Given the description of an element on the screen output the (x, y) to click on. 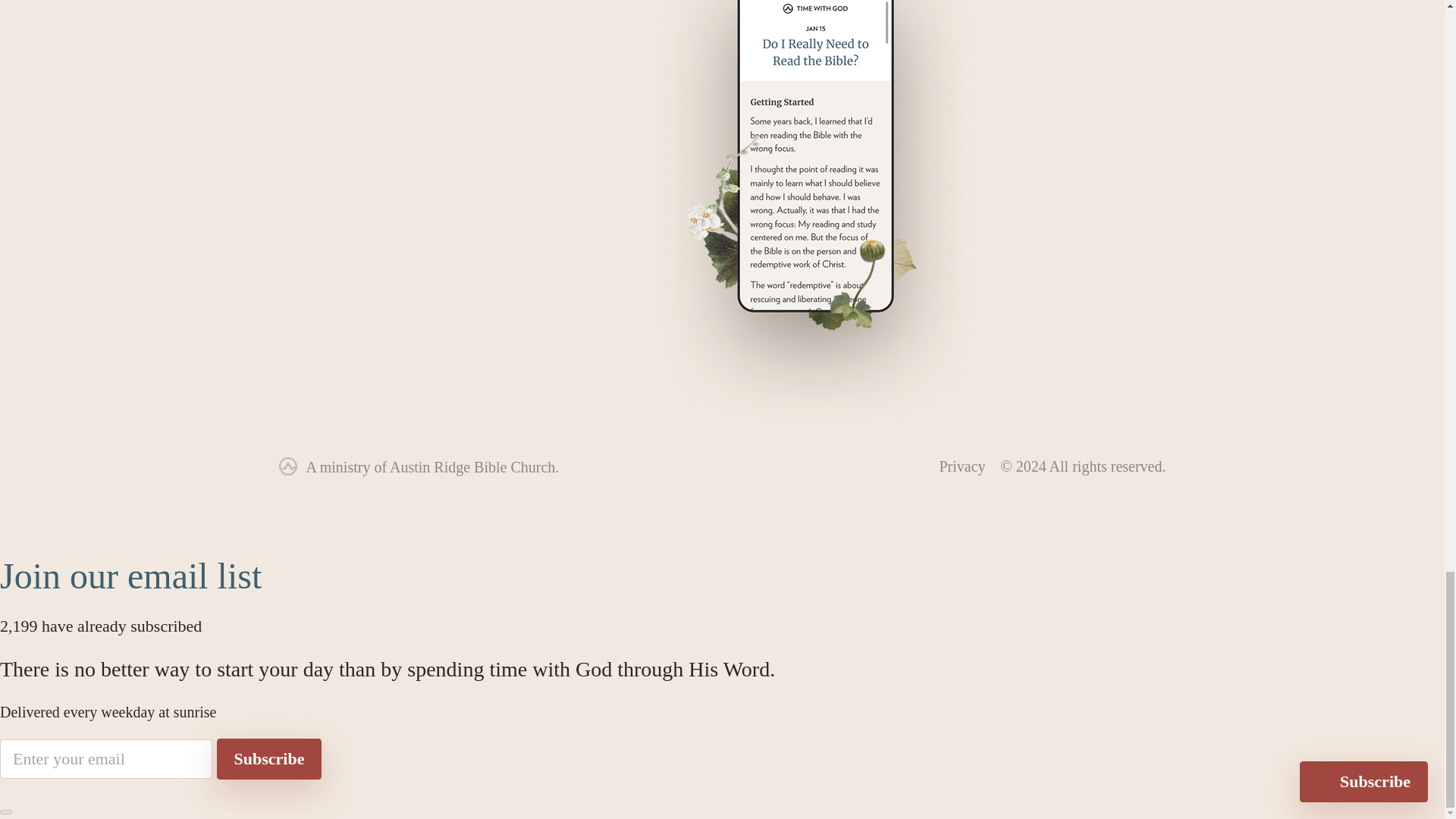
Subscribe (268, 758)
Privacy (962, 466)
A ministry of Austin Ridge Bible Church. (432, 466)
Subscribe (268, 758)
